Given the description of an element on the screen output the (x, y) to click on. 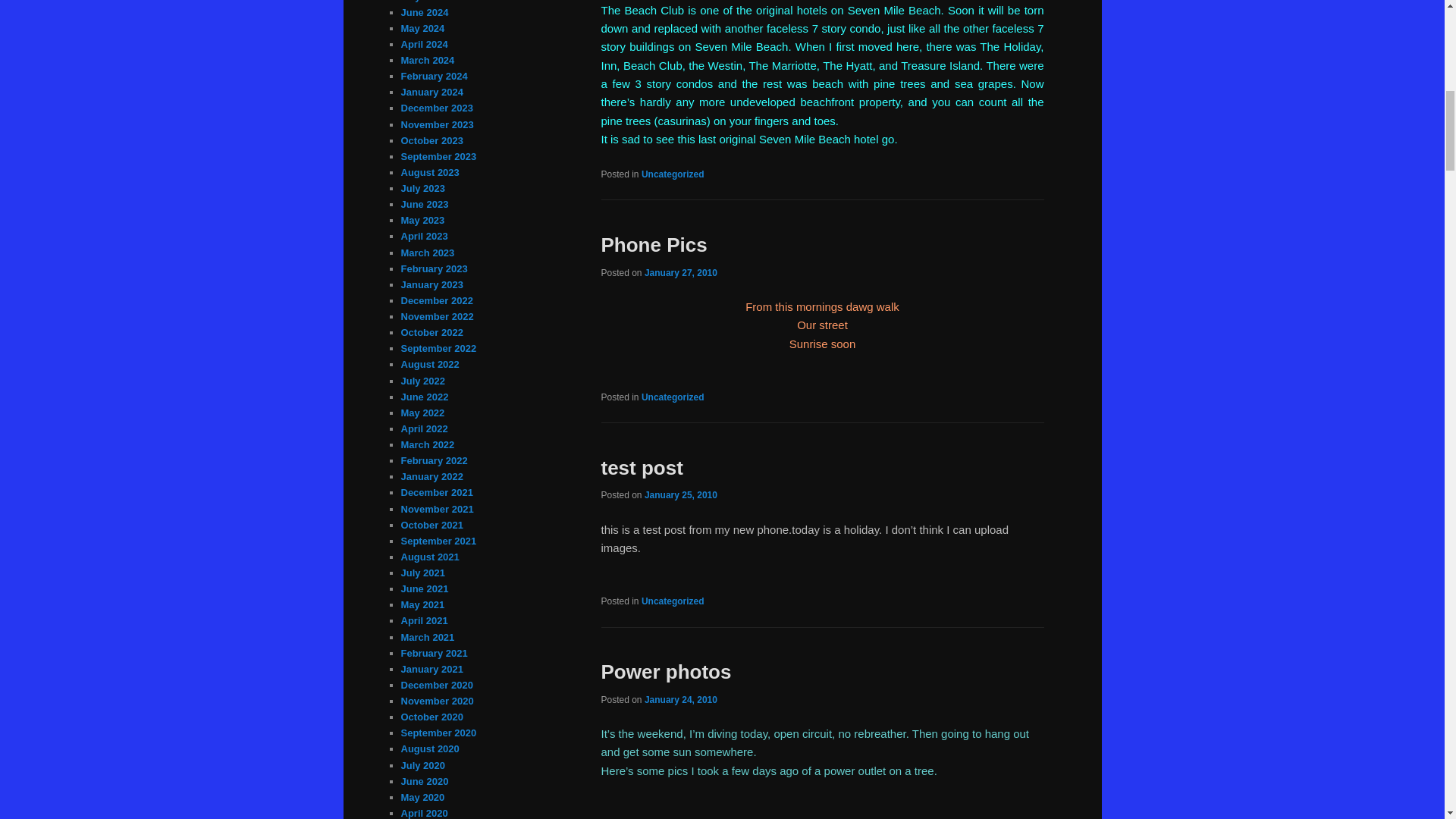
Phone Pics (652, 244)
January 25, 2010 (681, 494)
Power photos (664, 671)
Uncategorized (673, 173)
12:45 pm (681, 271)
Uncategorized (673, 601)
12:26 pm (681, 494)
January 24, 2010 (681, 699)
12:03 pm (681, 699)
January 27, 2010 (681, 271)
test post (640, 467)
Uncategorized (673, 397)
